Given the description of an element on the screen output the (x, y) to click on. 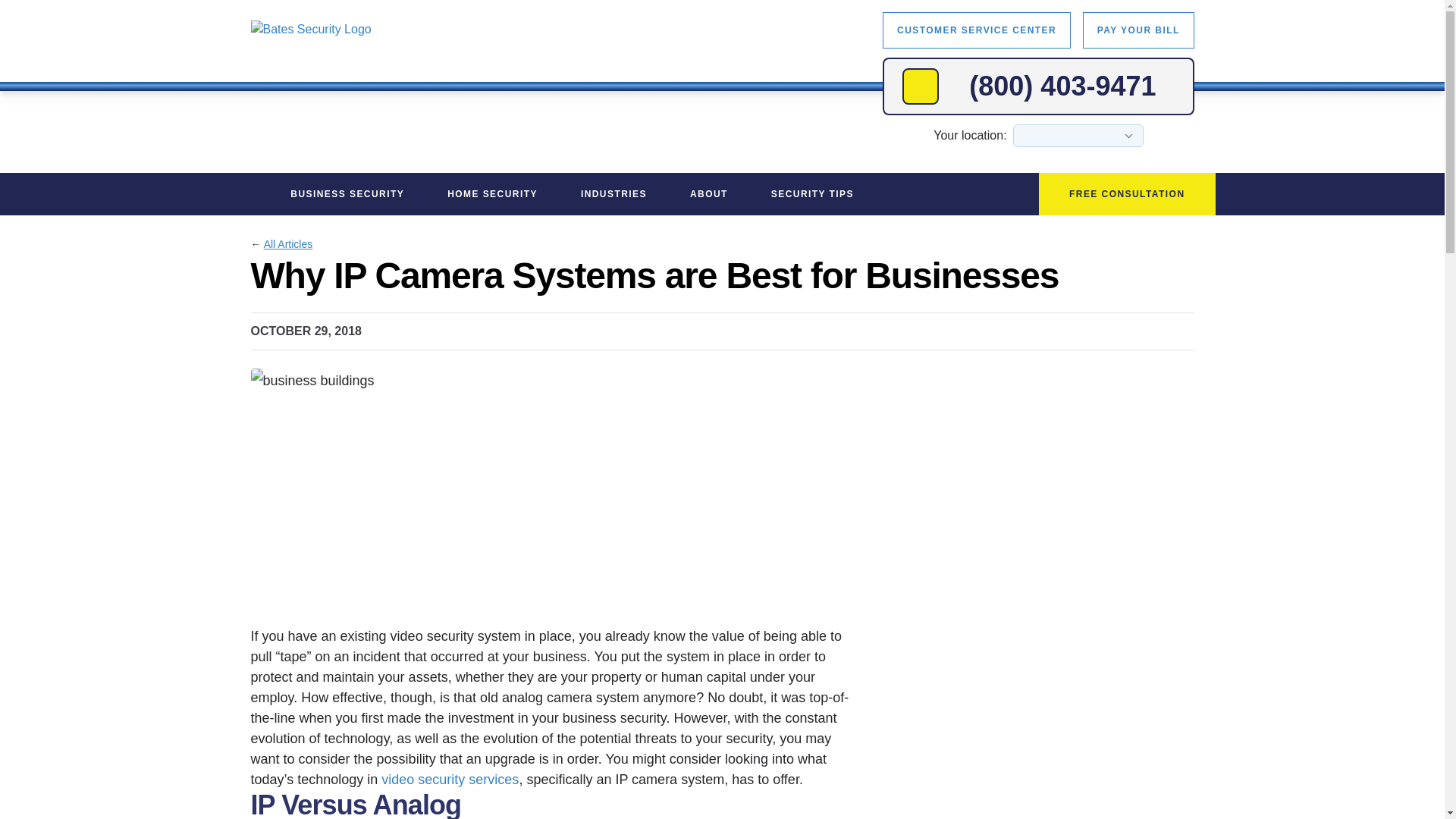
PAY YOUR BILL (1138, 30)
HOME SECURITY (499, 193)
CUSTOMER SERVICE CENTER (976, 30)
INDUSTRIES (620, 193)
ABOUT (715, 193)
BUSINESS SECURITY (353, 193)
